Given the description of an element on the screen output the (x, y) to click on. 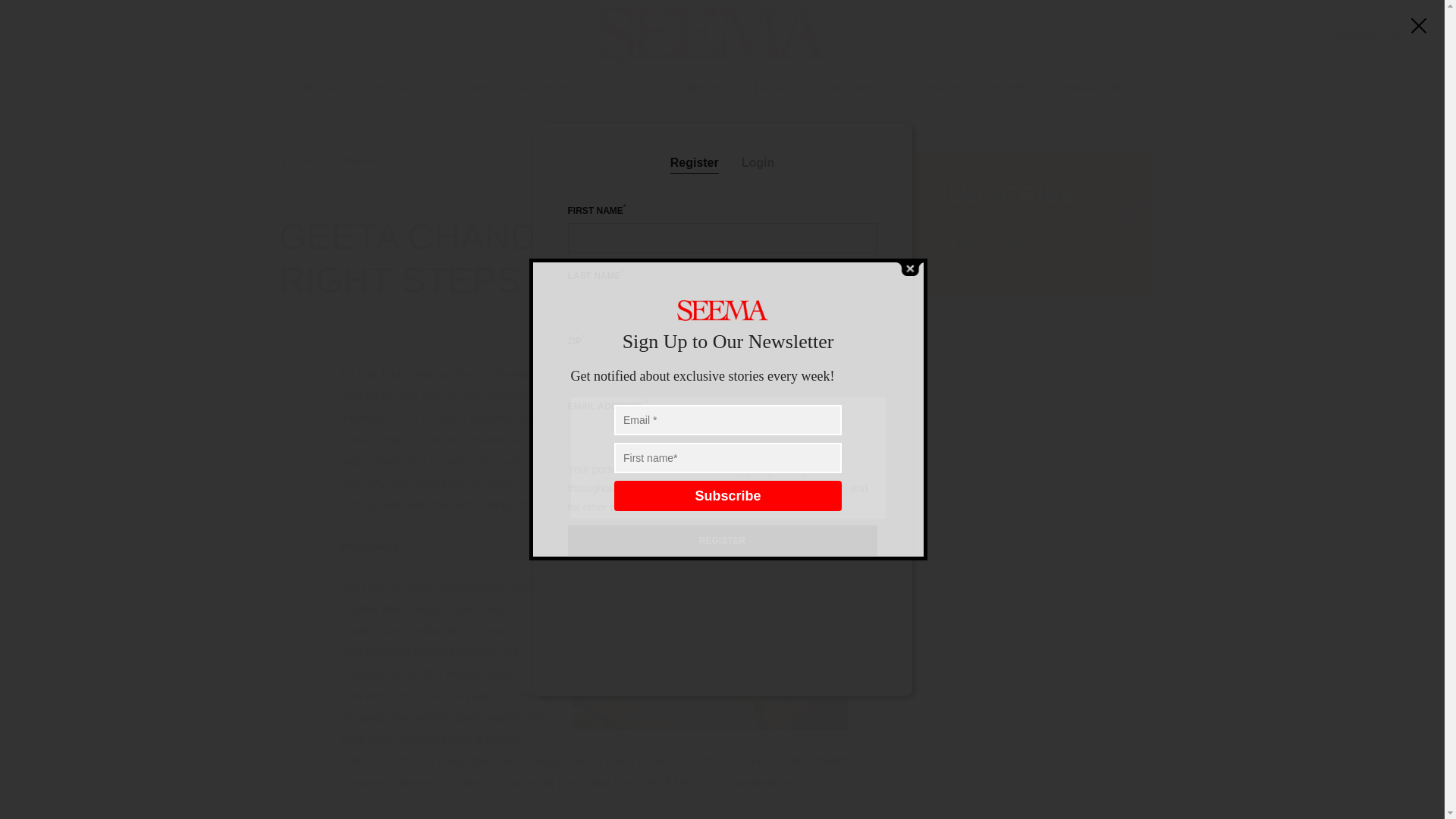
BLOG (396, 87)
SUNDAYS WITH SEEMA (979, 87)
BEAUTY (328, 87)
Subscribe (727, 495)
CULTURE (469, 87)
WELLNESS (861, 87)
TRAVEL (777, 87)
PIONEERS (697, 87)
FASHION (549, 87)
Seema (712, 33)
Scroll To Top (1408, 782)
Register (1355, 33)
Close (909, 268)
FOOD (622, 87)
MAGAZINE (1097, 87)
